Given the description of an element on the screen output the (x, y) to click on. 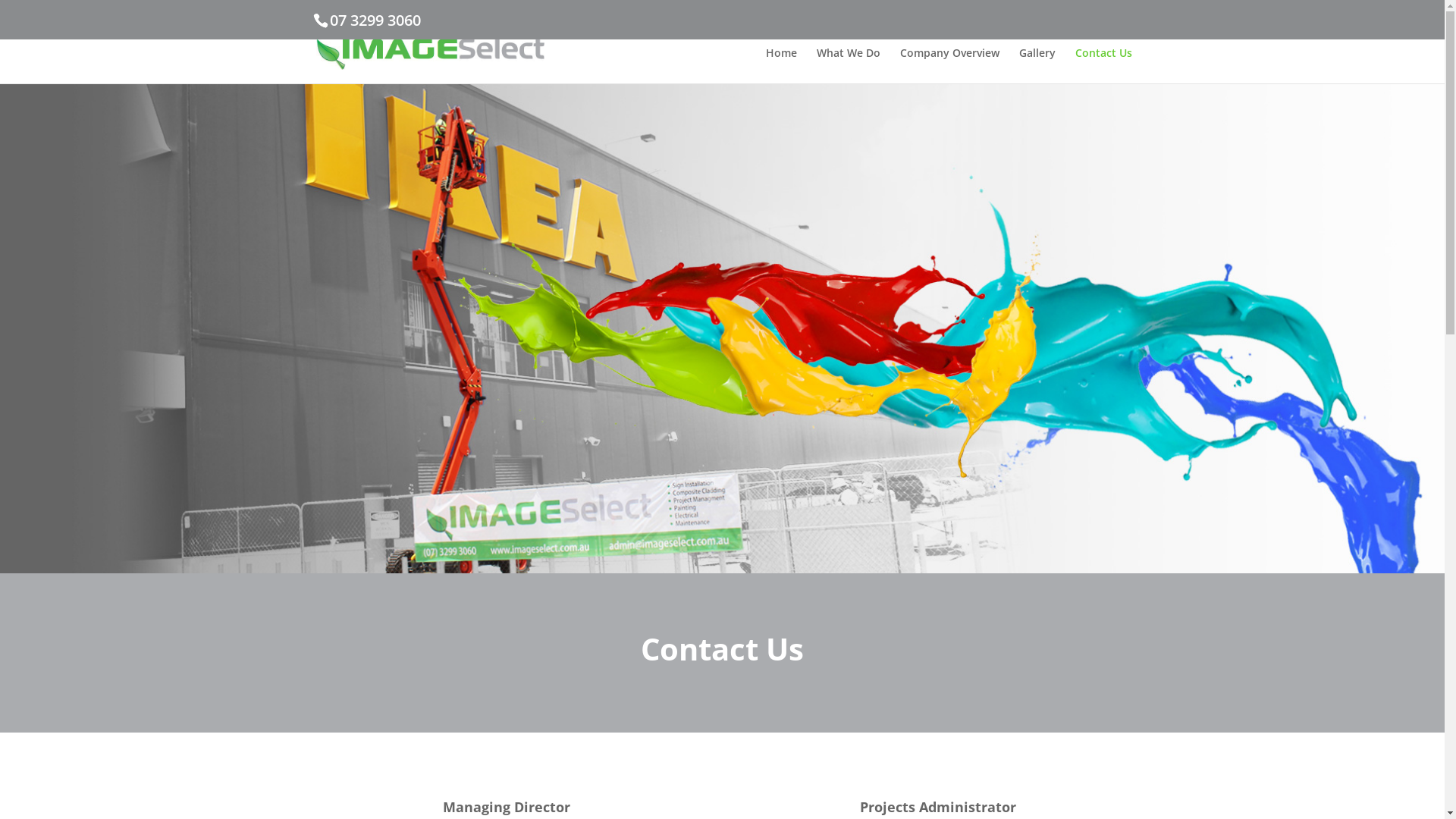
What We Do Element type: text (847, 65)
Imageselect Contact Us Element type: hover (722, 328)
Gallery Element type: text (1037, 65)
Company Overview Element type: text (948, 65)
Contact Us Element type: text (1103, 65)
Home Element type: text (781, 65)
